Given the description of an element on the screen output the (x, y) to click on. 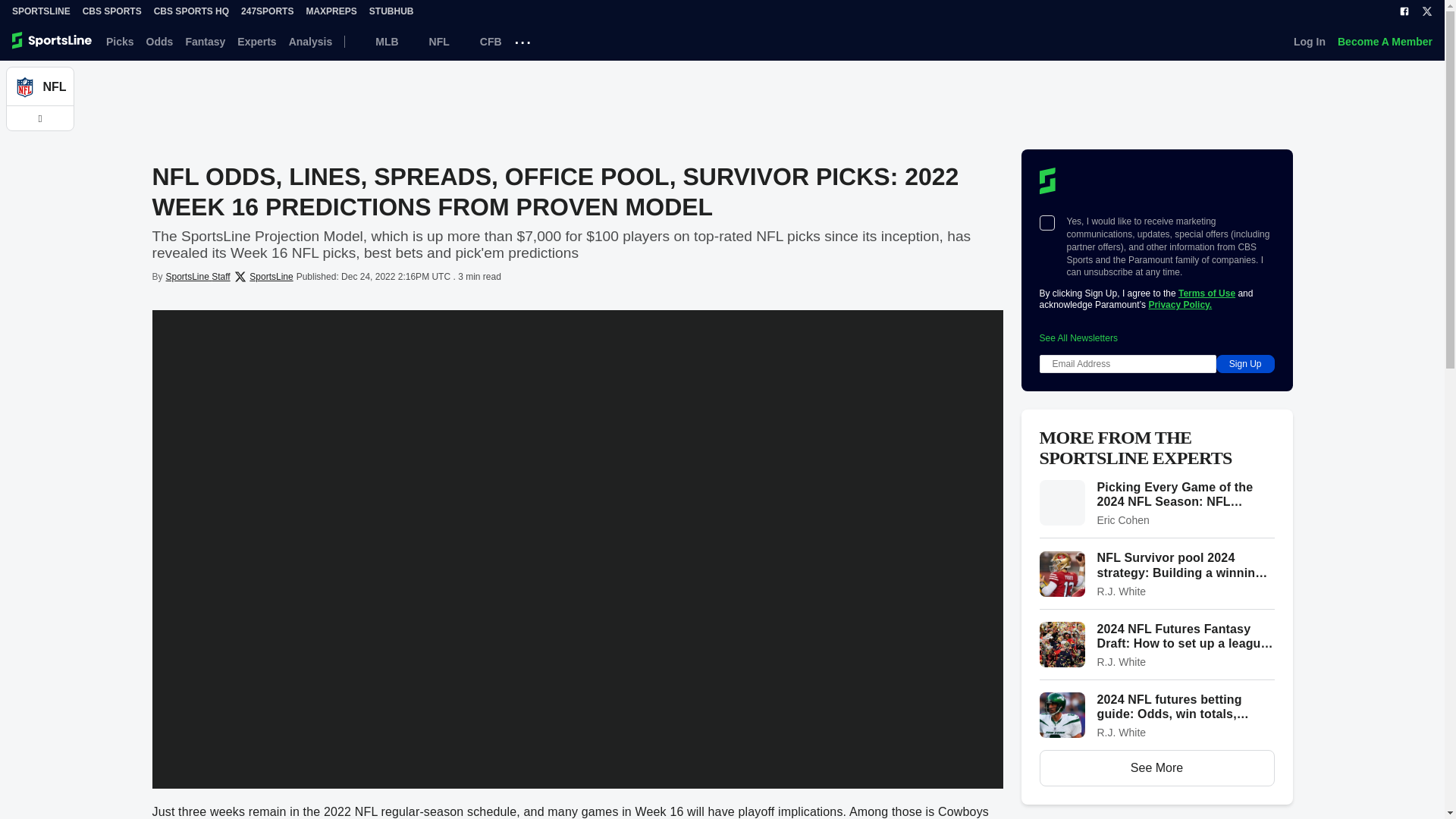
sportsline.com (52, 41)
CBS Sports HQ (191, 11)
SportsLine (40, 11)
247Sports (267, 11)
StubHub (391, 11)
MaxPreps (330, 11)
NFL (429, 41)
CFB (481, 41)
Analysis (310, 41)
Experts (256, 41)
